Given the description of an element on the screen output the (x, y) to click on. 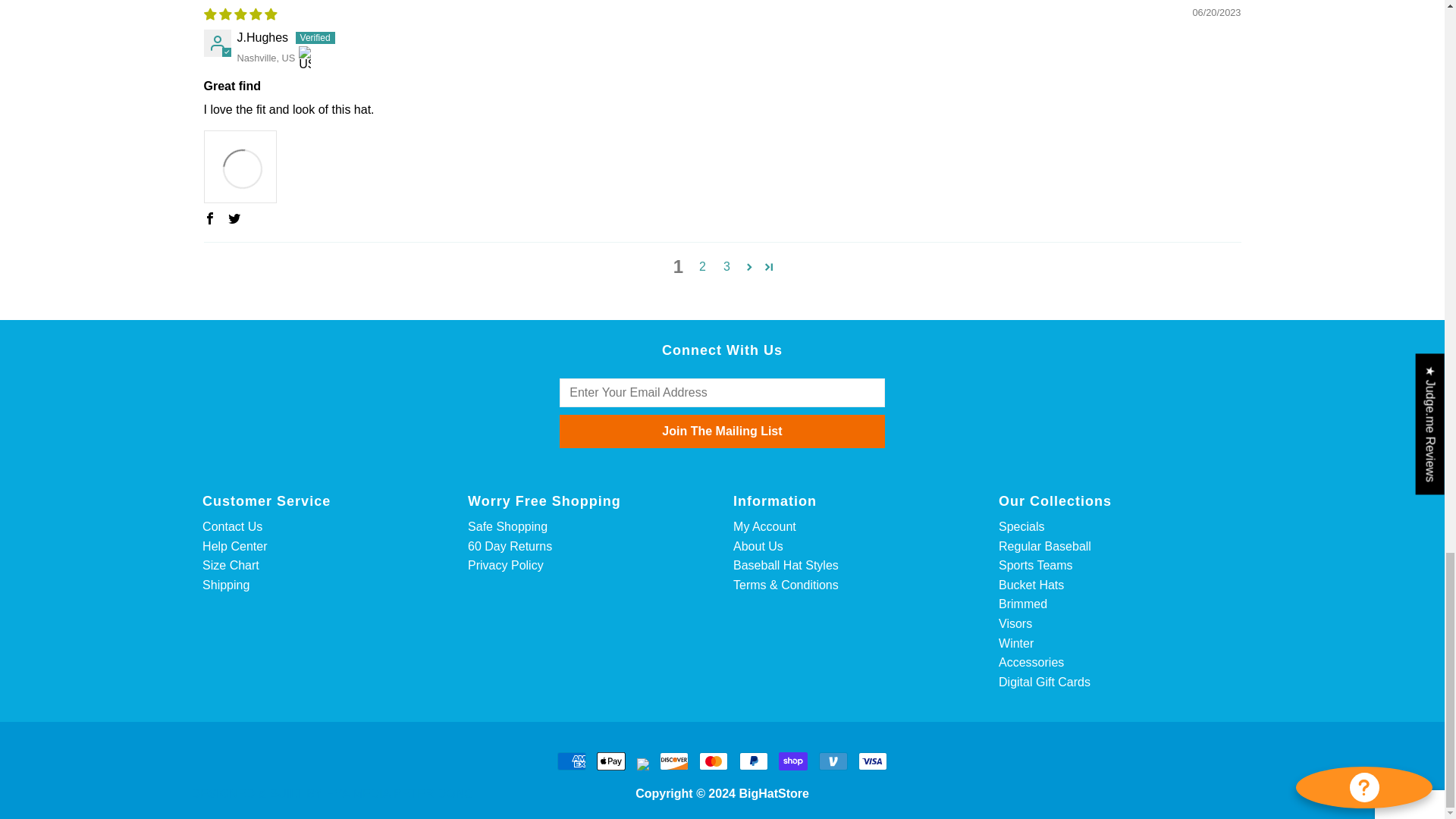
Join The Mailing List (721, 430)
Twitter (233, 218)
Facebook (208, 218)
